Given the description of an element on the screen output the (x, y) to click on. 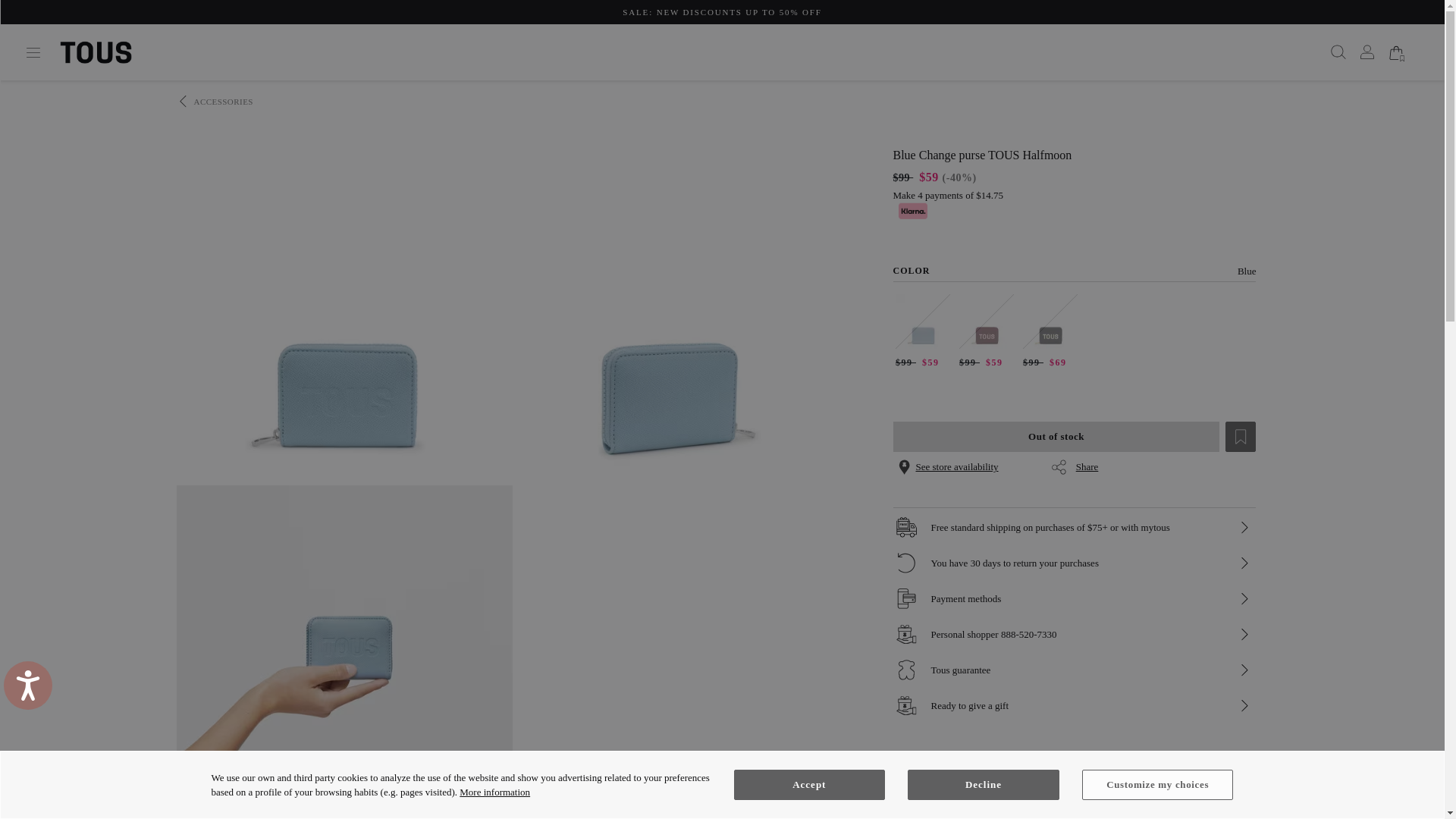
Minibag (1395, 52)
Accessibility (34, 690)
My account (1363, 52)
